Given the description of an element on the screen output the (x, y) to click on. 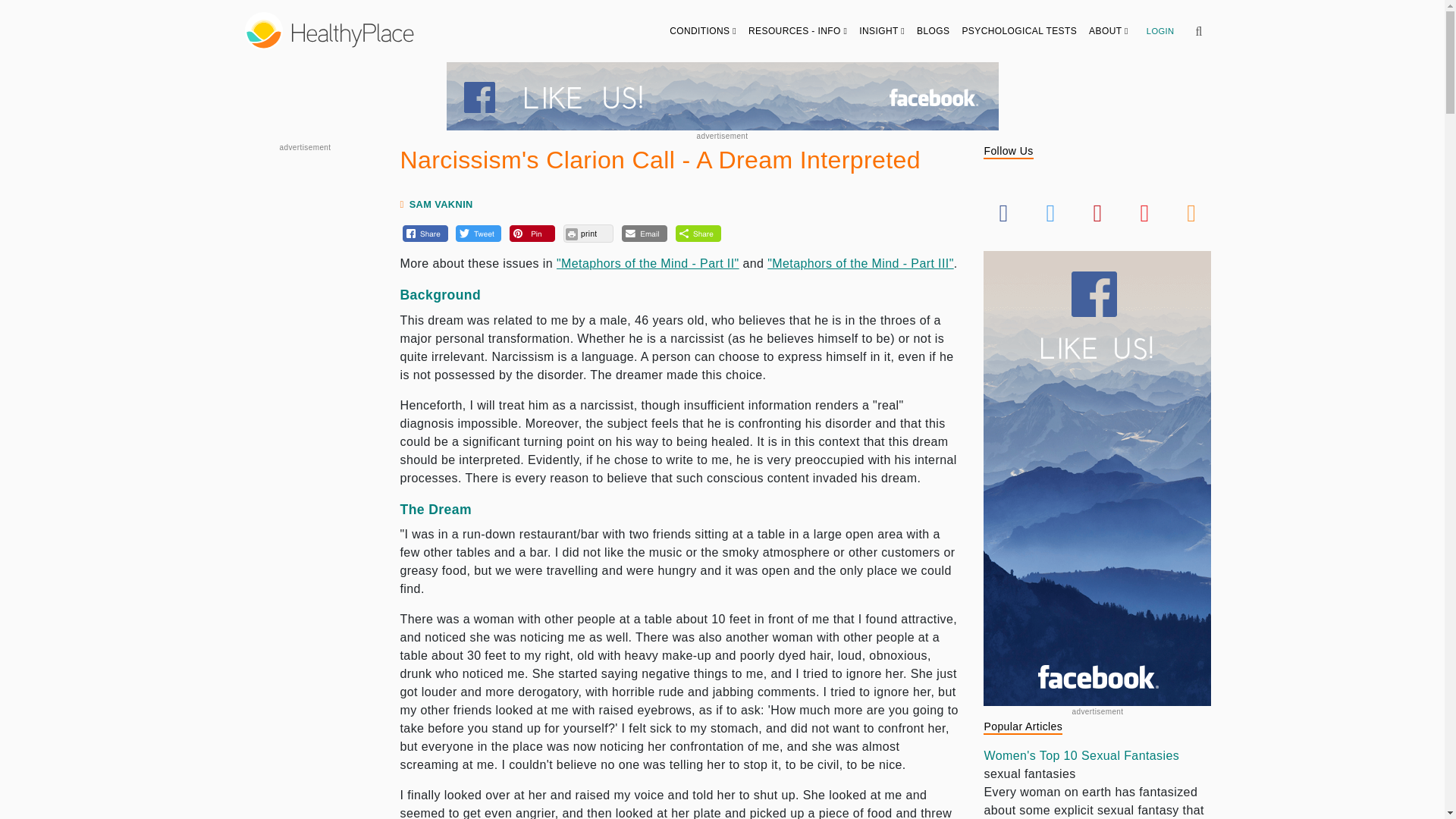
RESOURCES - INFO (797, 31)
Metaphors of the Mind - Part III (860, 263)
INSIGHT (882, 31)
Metaphors of the Mind - Part II (647, 263)
Join our Facebook community for mental health support (721, 96)
CONDITIONS (702, 31)
